Given the description of an element on the screen output the (x, y) to click on. 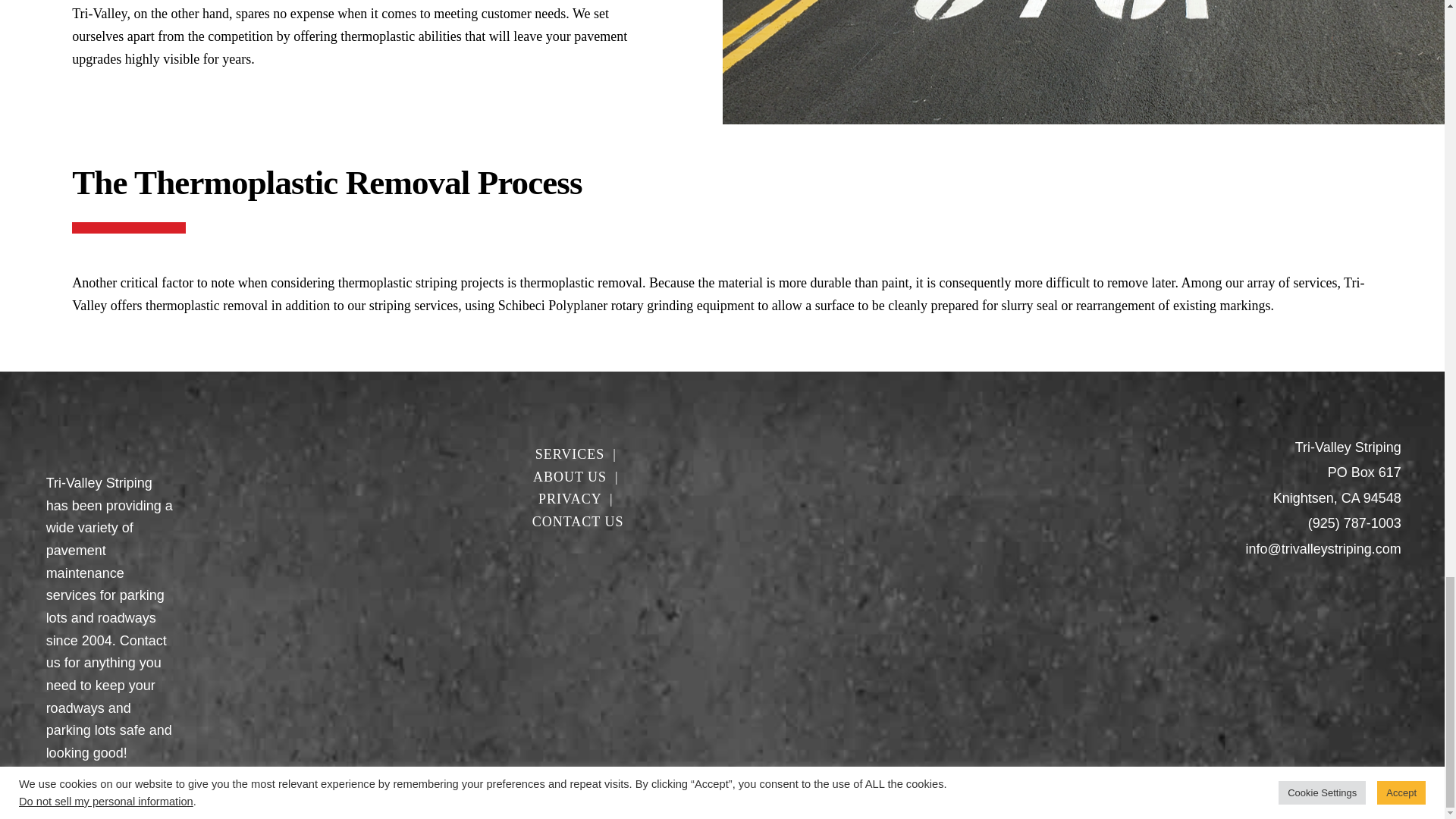
ABOUT US (569, 476)
Thermoplastic (108, 454)
PRIVACY (569, 498)
SERVICES (570, 453)
CONTACT US (578, 521)
